Given the description of an element on the screen output the (x, y) to click on. 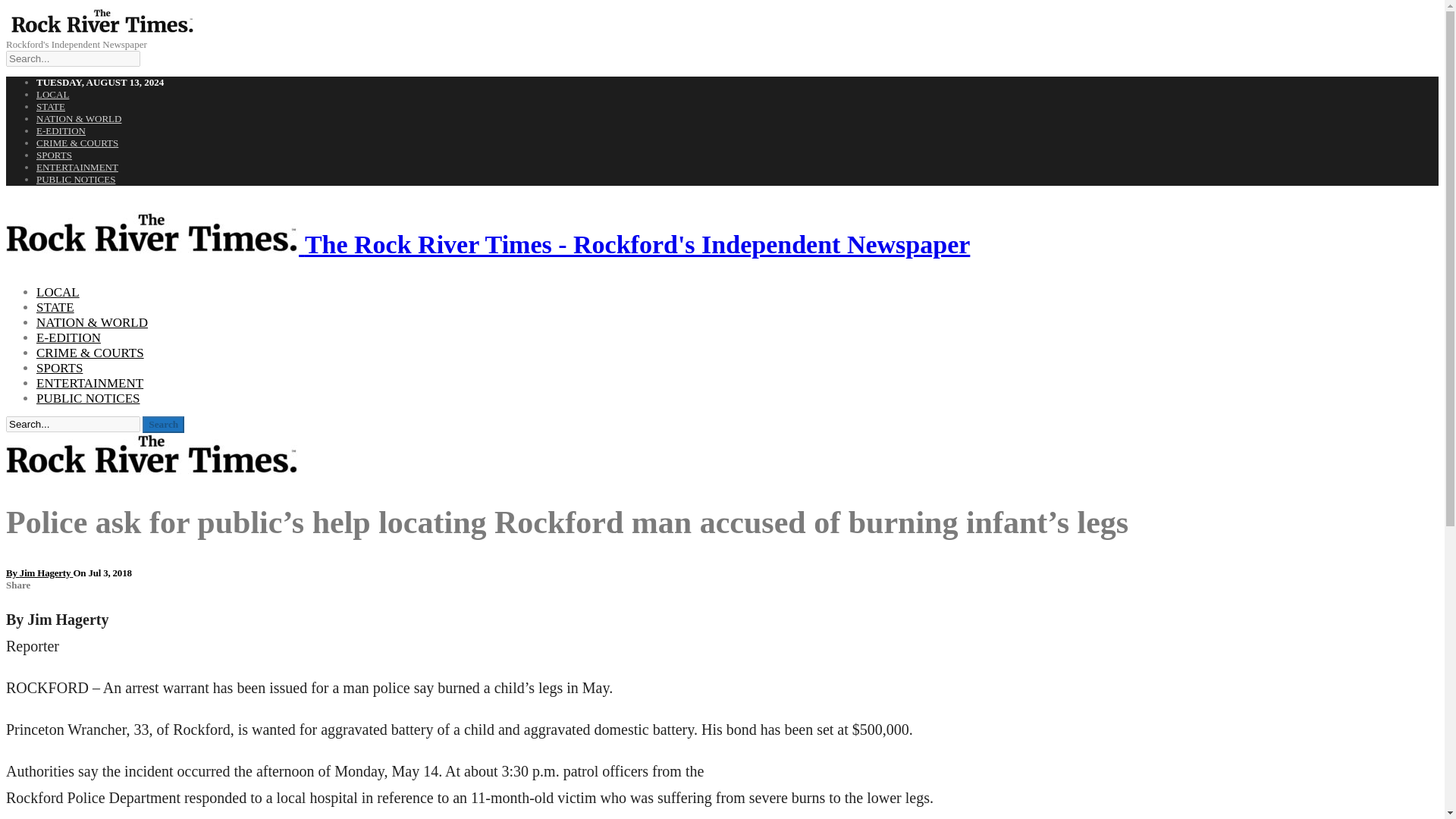
Browse Author Articles (38, 572)
Search (163, 424)
By Jim Hagerty (38, 572)
Search for: (72, 424)
STATE (55, 307)
E-EDITION (68, 337)
STATE (50, 106)
PUBLIC NOTICES (87, 398)
ENTERTAINMENT (76, 166)
SPORTS (53, 154)
